Given the description of an element on the screen output the (x, y) to click on. 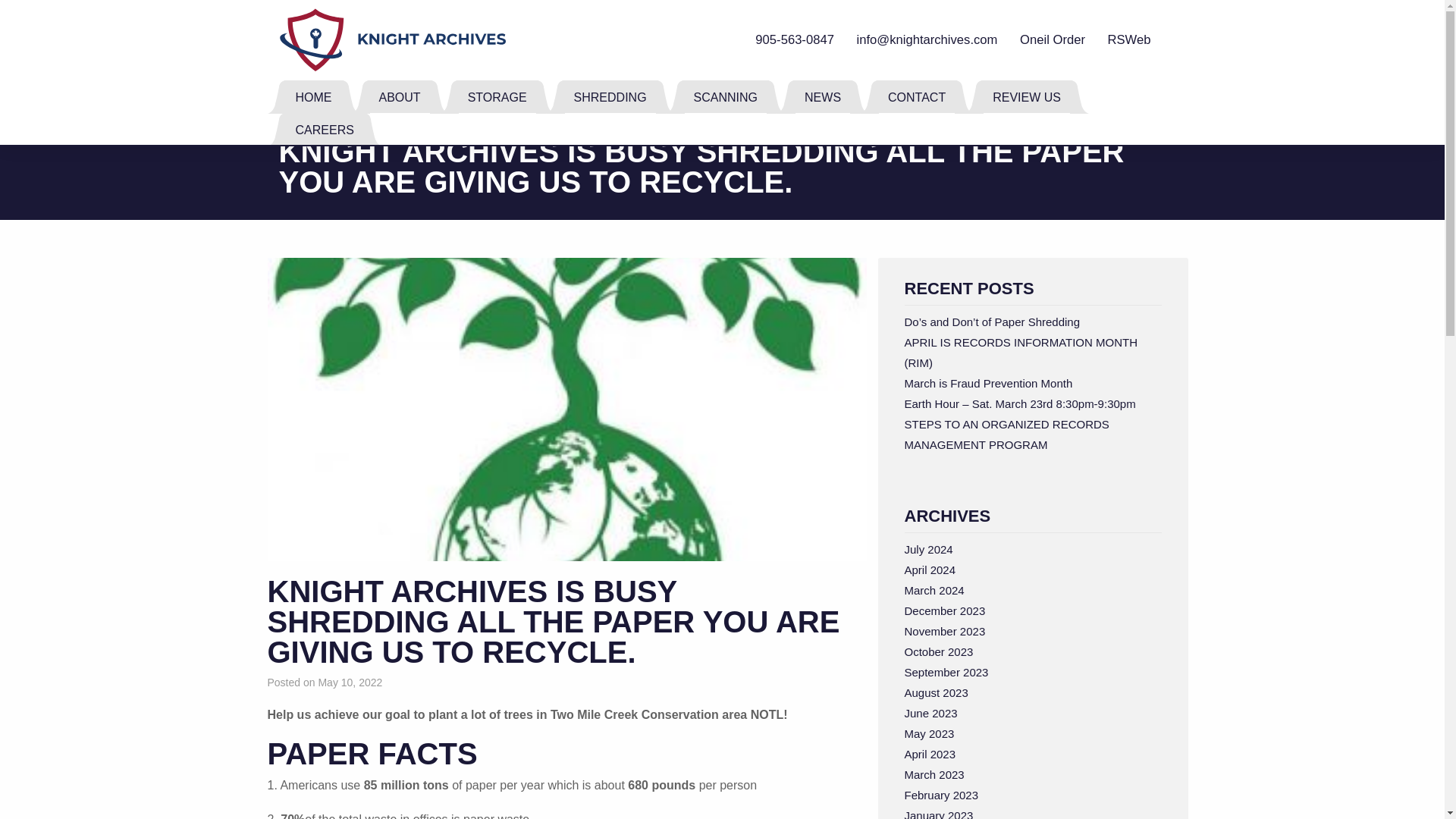
November 2023 (944, 631)
SHREDDING (610, 96)
905-563-0847 (794, 39)
December 2023 (944, 610)
ABOUT (400, 96)
CAREERS (325, 129)
October 2023 (938, 651)
REVIEW US (1026, 96)
RSWeb (1129, 39)
March 2024 (933, 590)
SCANNING (725, 96)
July 2024 (928, 549)
CONTACT (916, 96)
March is Fraud Prevention Month (987, 382)
Oneil Order (1052, 39)
